Given the description of an element on the screen output the (x, y) to click on. 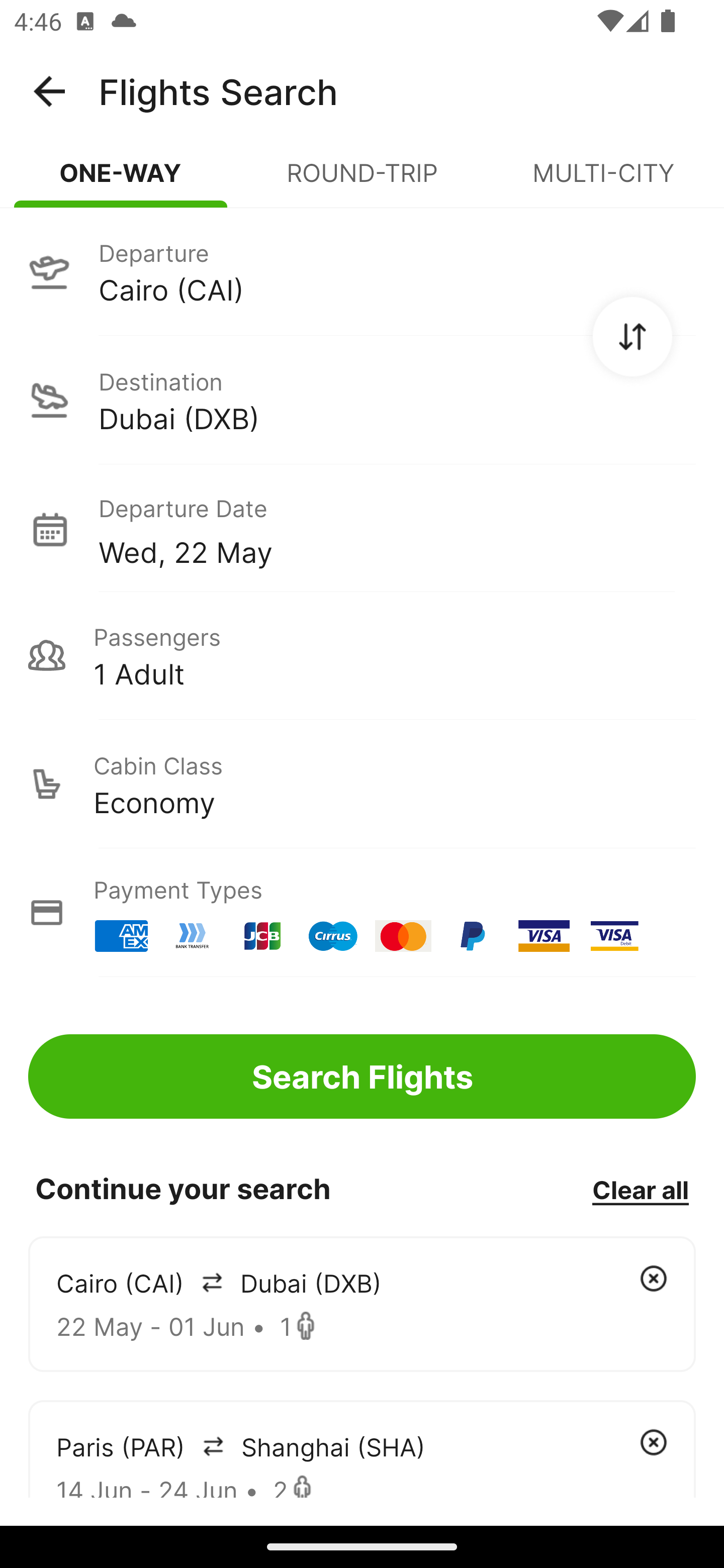
ONE-WAY (120, 180)
ROUND-TRIP (361, 180)
MULTI-CITY (603, 180)
Departure Cairo (CAI) (362, 270)
Destination Dubai (DXB) (362, 400)
Departure Date Wed, 22 May (396, 528)
Passengers 1 Adult (362, 655)
Cabin Class Economy (362, 783)
Payment Types (362, 912)
Search Flights (361, 1075)
Clear all (640, 1189)
